Given the description of an element on the screen output the (x, y) to click on. 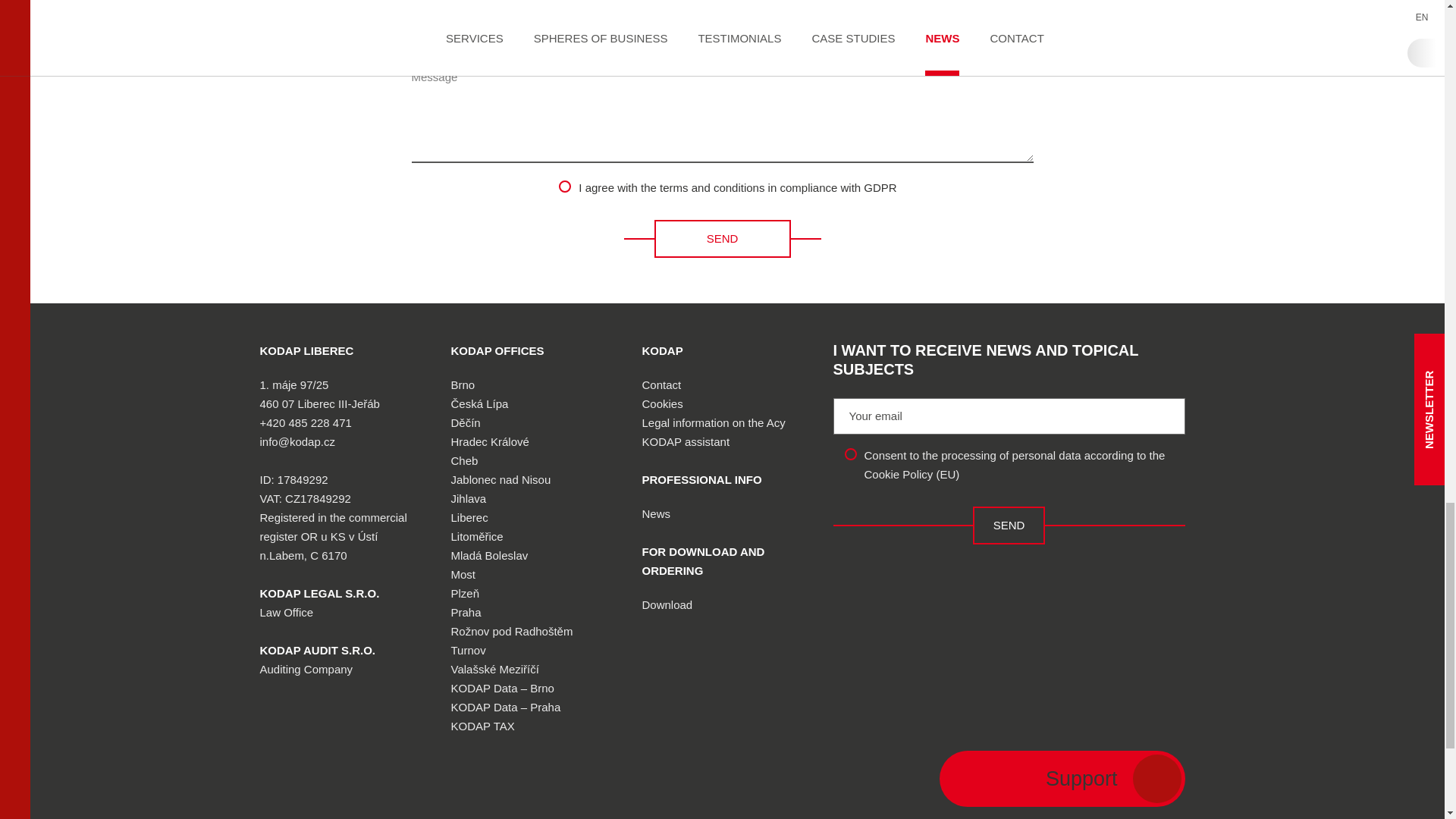
1 (564, 186)
Legal Services (318, 593)
1 (850, 453)
KODAP Liberec (306, 350)
